Given the description of an element on the screen output the (x, y) to click on. 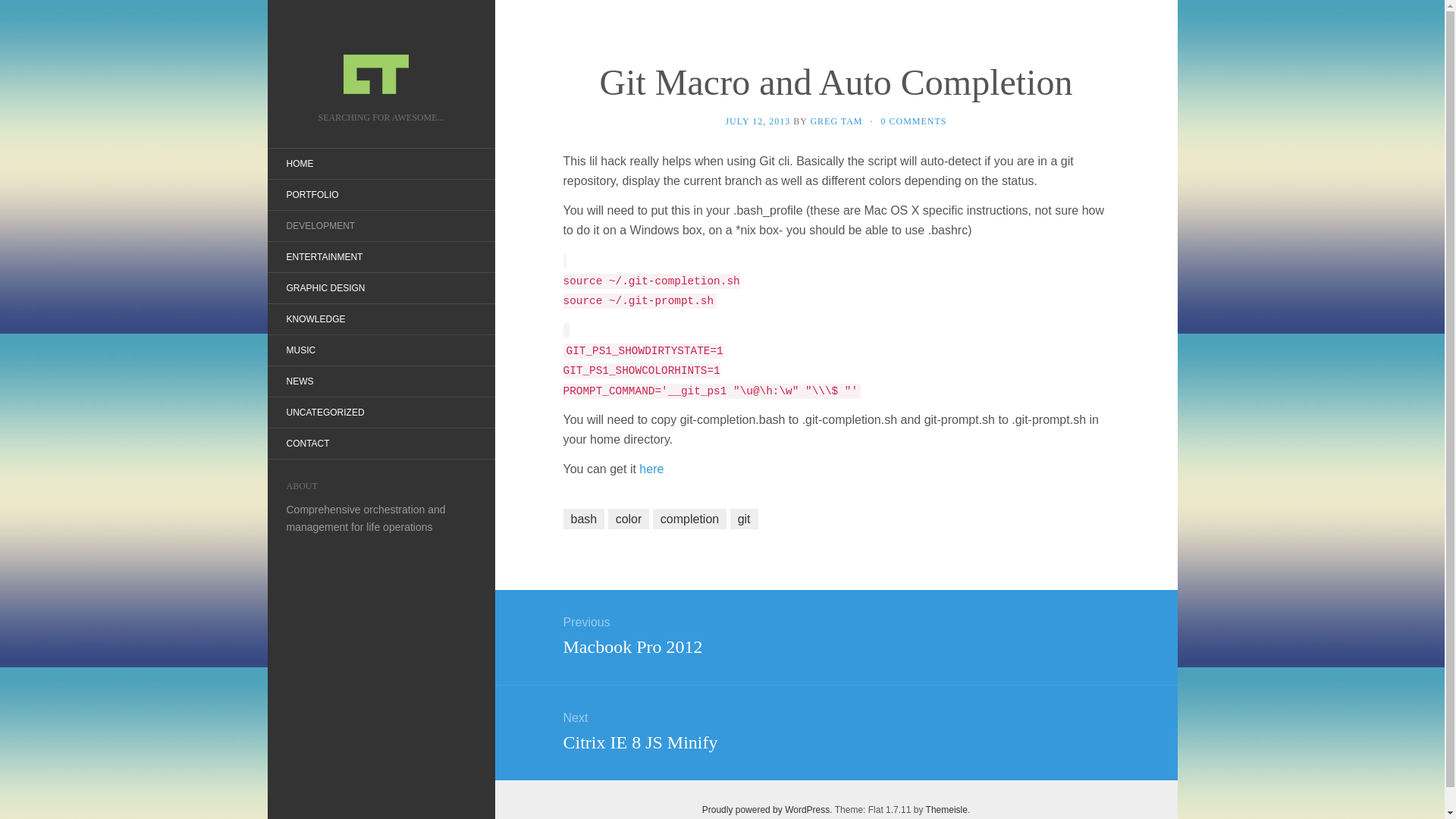
git-completion (651, 468)
Themeisle (947, 809)
Greg Tam (835, 729)
JULY 12, 2013 (380, 60)
GREG TAM (757, 121)
git (835, 121)
bash (744, 518)
completion (583, 518)
HOME (689, 518)
Proudly powered by WordPress (298, 163)
ENTERTAINMENT (765, 809)
CONTACT (323, 257)
UNCATEGORIZED (835, 633)
